Given the description of an element on the screen output the (x, y) to click on. 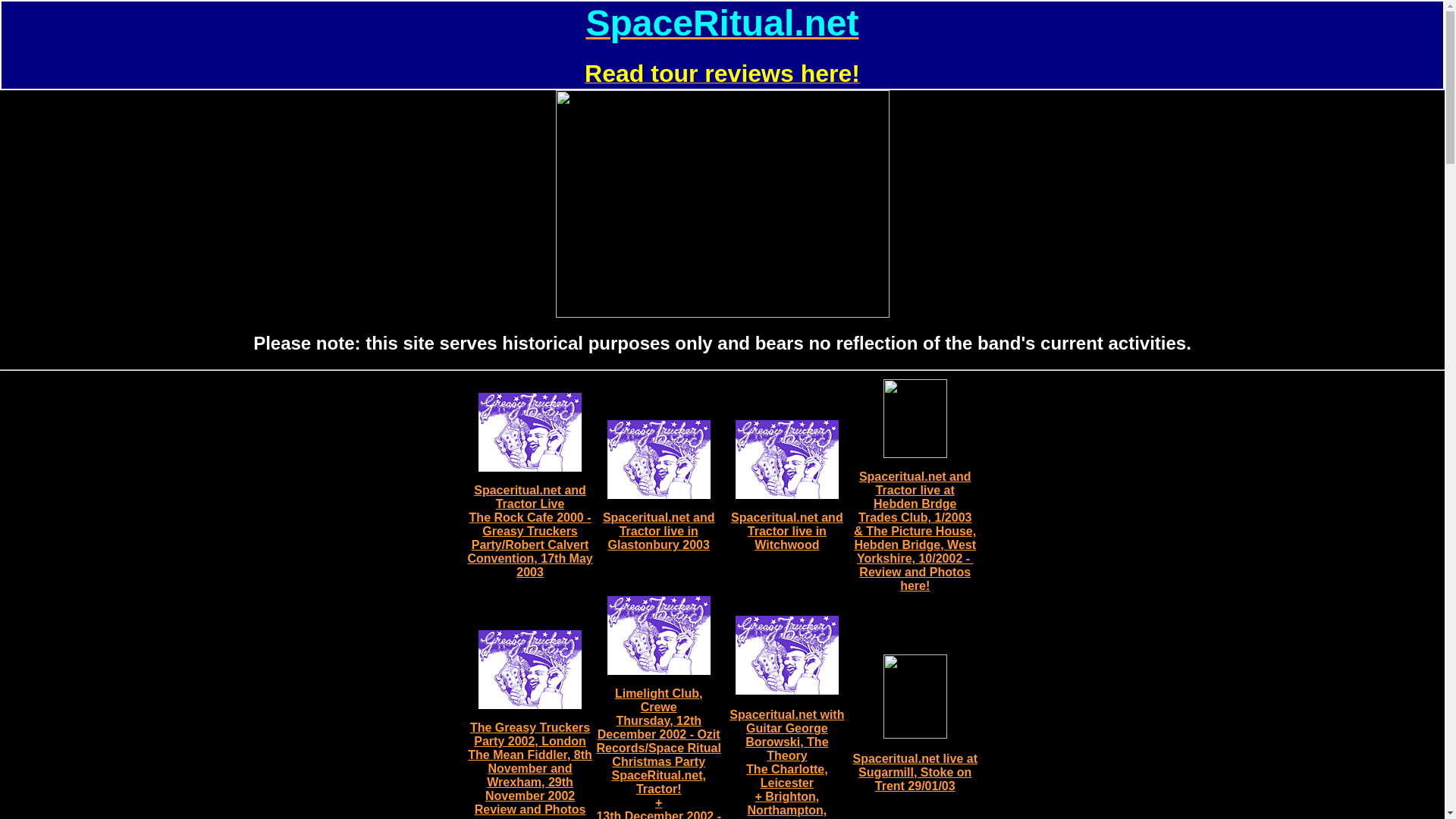
Spaceritual.net and Tractor live in Glastonbury 2003 (658, 531)
Read tour reviews here! (722, 77)
SpaceRitual.net (722, 26)
Spaceritual.net and Tractor live in Witchwood (786, 531)
Limelight Club, Crewe (658, 700)
